Given the description of an element on the screen output the (x, y) to click on. 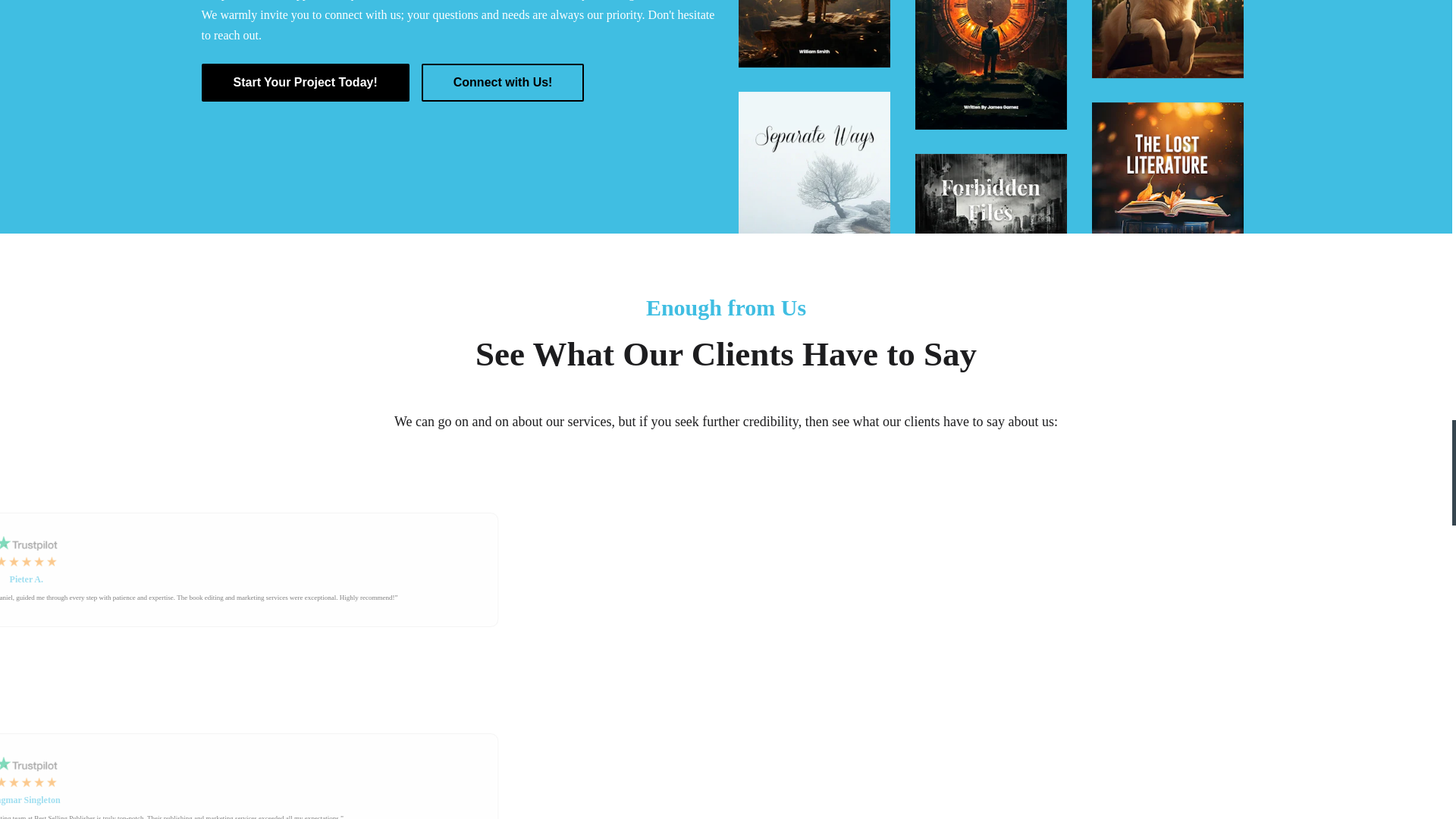
Connect with Us! (503, 82)
Start Your Project Today! (305, 82)
